Given the description of an element on the screen output the (x, y) to click on. 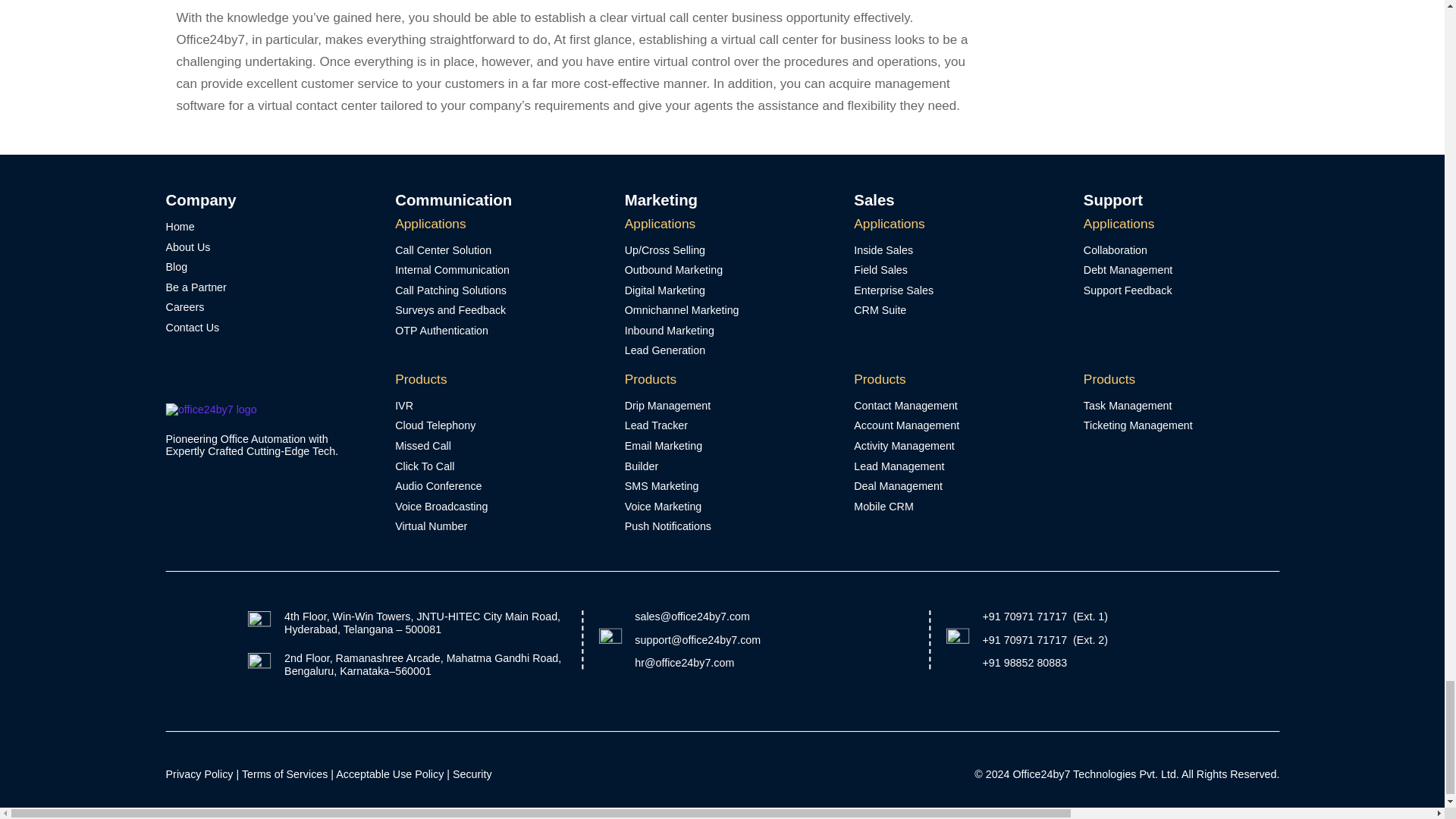
office24by7-logo-navbar-white (209, 409)
